Given the description of an element on the screen output the (x, y) to click on. 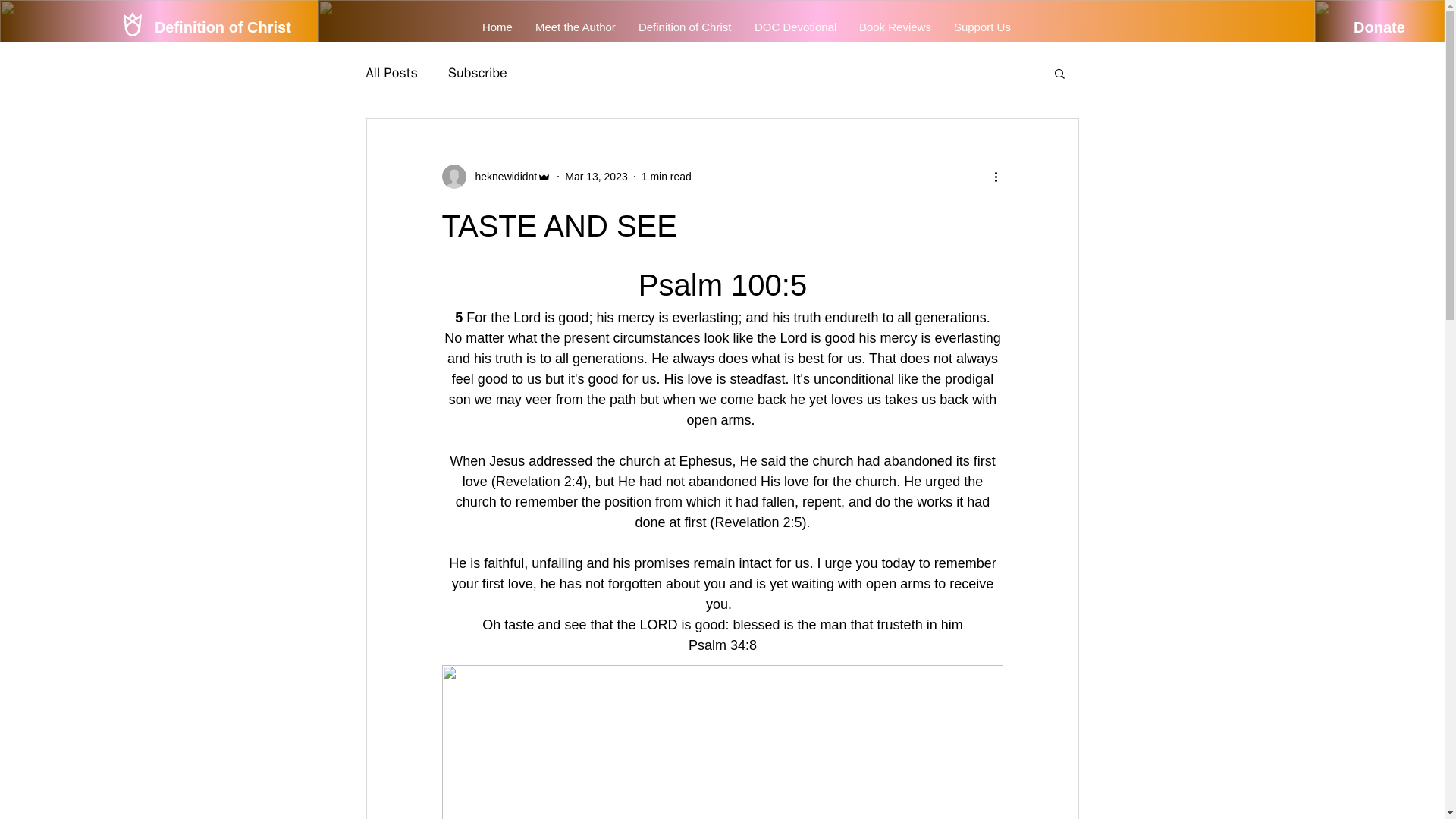
Book Reviews (894, 27)
Definition of Christ (684, 27)
Support Us (982, 27)
1 min read (666, 175)
heknewididnt (496, 176)
Subscribe (477, 72)
Home (497, 27)
All Posts (390, 72)
heknewididnt (501, 176)
Donate (1378, 27)
